Given the description of an element on the screen output the (x, y) to click on. 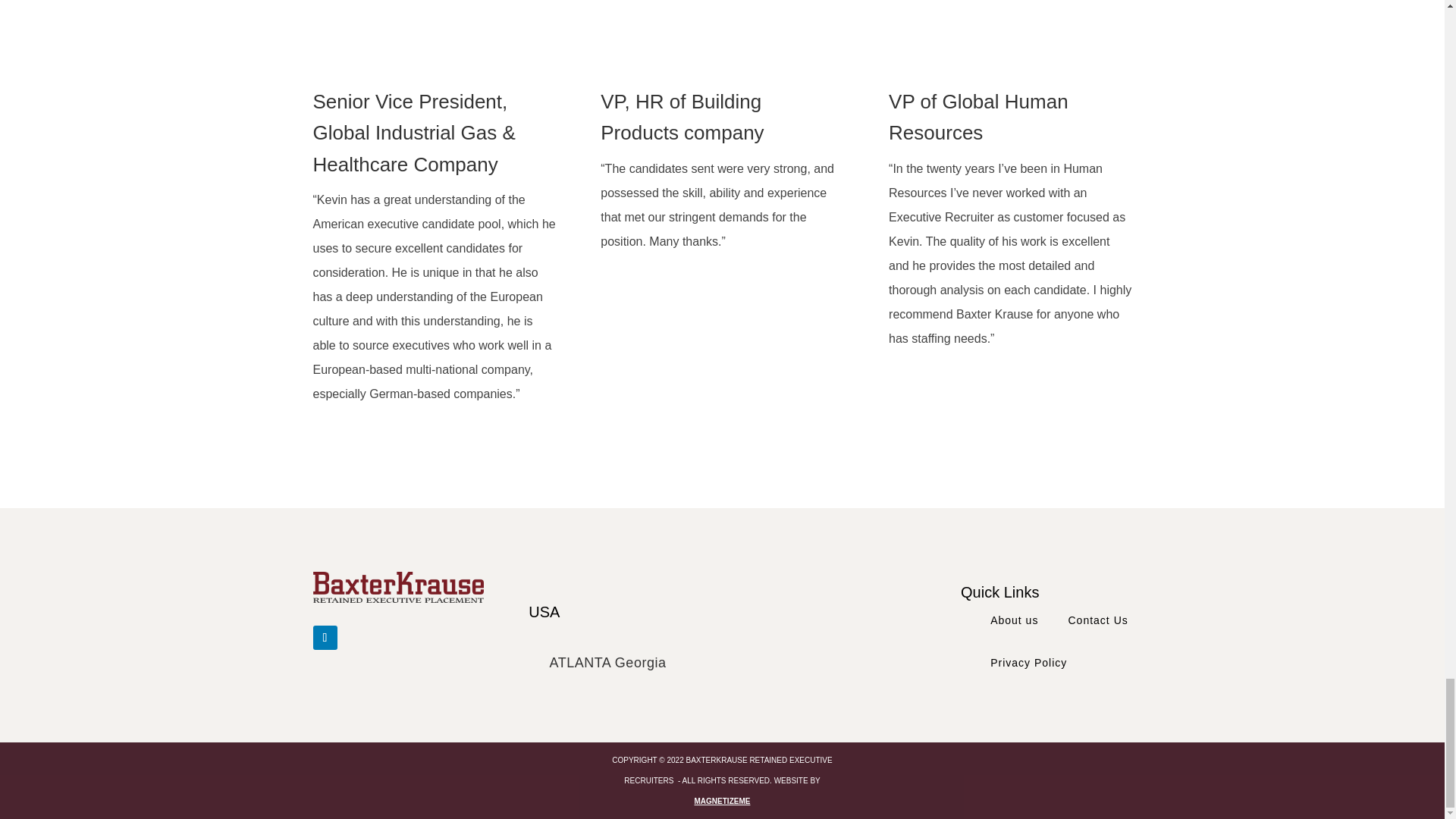
Follow on LinkedIn (324, 637)
MAGNETIZEME (722, 800)
Contact Us (1096, 620)
Privacy Policy (1028, 662)
About us (1014, 620)
BaxterKrause logo (398, 586)
